Given the description of an element on the screen output the (x, y) to click on. 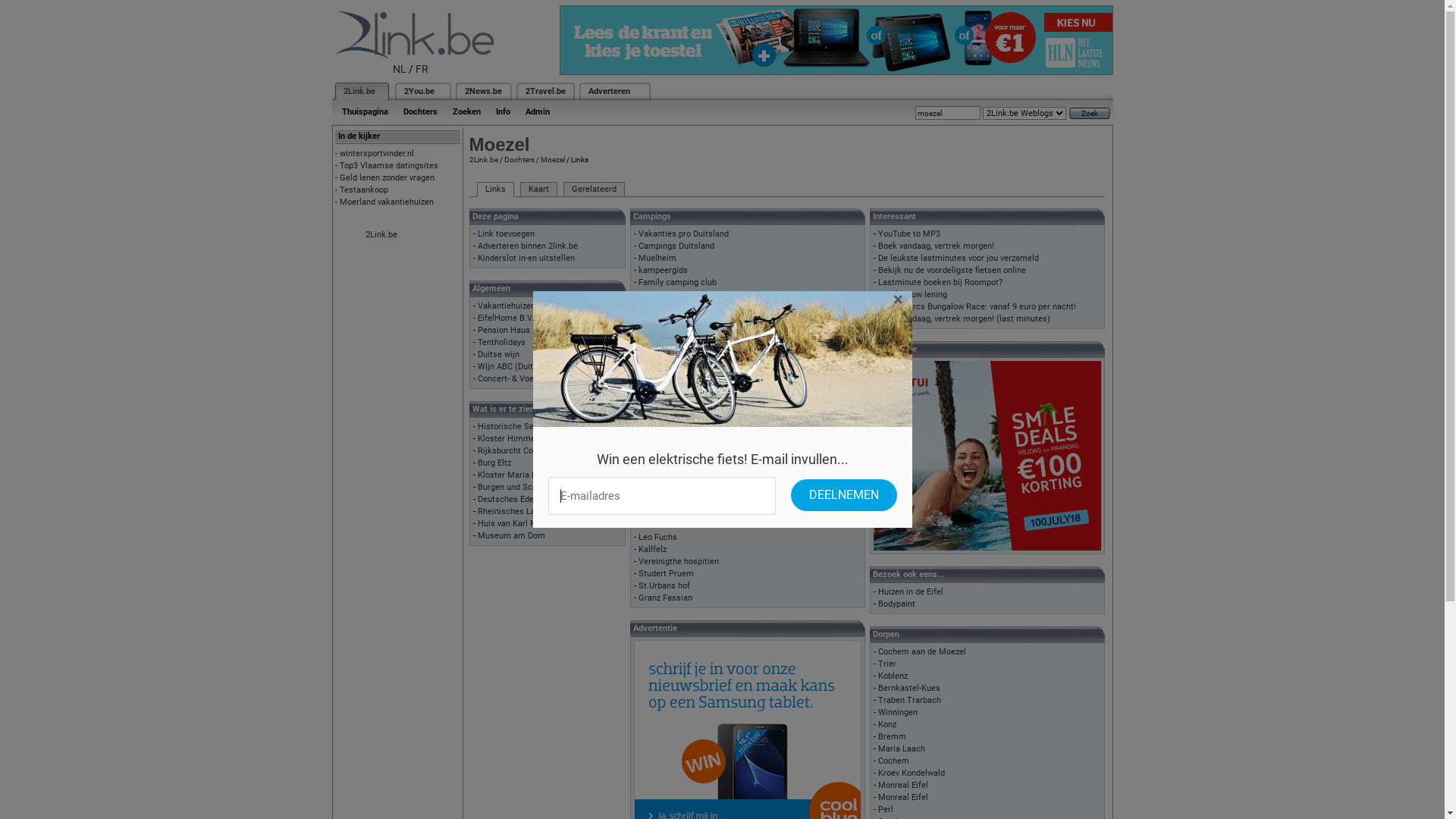
Perl Element type: text (885, 809)
Huis van Karl Marx Element type: text (513, 523)
Thuispagina Element type: text (364, 111)
Pension Haus Anja Element type: text (513, 330)
Huizen in de Eifel Element type: text (910, 591)
Kaart Element type: text (538, 189)
2Link.be Element type: text (358, 91)
Maria Laach Element type: text (901, 748)
Campings Duitsland Element type: text (676, 246)
Studert Pruem Element type: text (665, 573)
Dochters Element type: text (420, 111)
Admin Element type: text (536, 111)
EifelHome B.V. - makelaardij Element type: text (531, 318)
St.Urbans hof Element type: text (664, 585)
2News.be Element type: text (482, 91)
Moezel Element type: text (551, 159)
CenterParcs Bungalow Race: vanaf 9 euro per nacht! Element type: text (977, 306)
Moerland vakantiehuizen Element type: text (386, 202)
Vereinigthe hospitien Element type: text (678, 561)
kampeergids Element type: text (662, 270)
YouTube to MP3 Element type: text (909, 233)
Kallfelz Element type: text (652, 549)
Cochem aan de Moezel Element type: text (922, 651)
Rheinisches Landesmuseum Element type: text (531, 511)
Hof van eden Element type: text (662, 488)
Top3 Vlaamse datingsites Element type: text (388, 165)
Boek vandaag, vertrek morgen! Element type: text (936, 246)
Adverteren binnen 2link.be Element type: text (527, 246)
wintersportvinder.nl Element type: text (376, 153)
2Link.be Element type: text (482, 159)
www.purchase-hotels.com Element type: text (687, 366)
Buerder Element type: text (653, 294)
Eurokamperen Element type: text (665, 318)
Lastminute boeken bij Roompot? Element type: text (940, 282)
Museum am Dom Element type: text (511, 535)
Link toevoegen Element type: text (505, 233)
2You.be Element type: text (418, 91)
Bereken uw lening Element type: text (912, 294)
Geld lenen zonder vragen Element type: text (386, 177)
Kroev Kondelwald Element type: text (911, 773)
Winningen Element type: text (897, 712)
Granz Fassian Element type: text (665, 597)
camperpunt Element type: text (661, 306)
Konz Element type: text (887, 724)
Eurener Hof Trier Element type: text (670, 402)
Gerelateerd Element type: text (593, 189)
Vakanties.pro Duitsland Element type: text (683, 233)
Hotel Moselpark Element type: text (669, 415)
NL Element type: text (399, 68)
Nell's park hotel Trier Element type: text (679, 427)
Monreal Eifel Element type: text (903, 785)
Cochem Element type: text (893, 760)
FR Element type: text (421, 68)
De leukste lastminutes voor jou verzameld Element type: text (958, 258)
Info Element type: text (502, 111)
Duitse wijn Element type: text (498, 354)
Cochem Element type: text (653, 378)
Family camping club Element type: text (677, 282)
Stein Element type: text (648, 500)
Kinderslot in-en uitstellen Element type: text (525, 258)
Vakantiehuizen Eifel Element type: text (515, 305)
Monreal Eifel Element type: text (903, 797)
Bekijk nu de voordeligste fietsen online Element type: text (952, 270)
Historische Senfmuehle Element type: text (523, 426)
Deutsches Edelsteinmuseum Element type: text (532, 499)
Zoek Element type: text (1089, 113)
Testaankoop Element type: text (363, 189)
Concert- & Voetbaltickets Element type: text (525, 378)
Wijn ABC (Duitstalig) Element type: text (517, 366)
Kloster Maria Laach Element type: text (515, 475)
Kloster Himmerod Element type: text (512, 438)
Hotel Basilique Element type: text (667, 390)
Bernkastel-Kues Element type: text (909, 688)
2Travel.be Element type: text (544, 91)
Muelheim Element type: text (657, 258)
Tentholidays Element type: text (501, 342)
Haxel Element type: text (648, 525)
Rijksburcht Cochem Element type: text (515, 450)
Bremm Element type: text (892, 736)
Dochters Element type: text (518, 159)
Zoeken Element type: text (465, 111)
Boek vandaag, vertrek morgen! (last minutes) Element type: text (964, 318)
Burg Eltz Element type: text (494, 462)
Leo Fuchs Element type: text (657, 537)
Traben Trarbach Element type: text (909, 700)
Franzen Element type: text (653, 512)
Adverteren Element type: text (609, 91)
Bodypaint Element type: text (896, 603)
2Link.be Element type: text (381, 234)
Links Element type: text (494, 189)
Koblenz Element type: text (892, 675)
Trier Element type: text (887, 663)
